Given the description of an element on the screen output the (x, y) to click on. 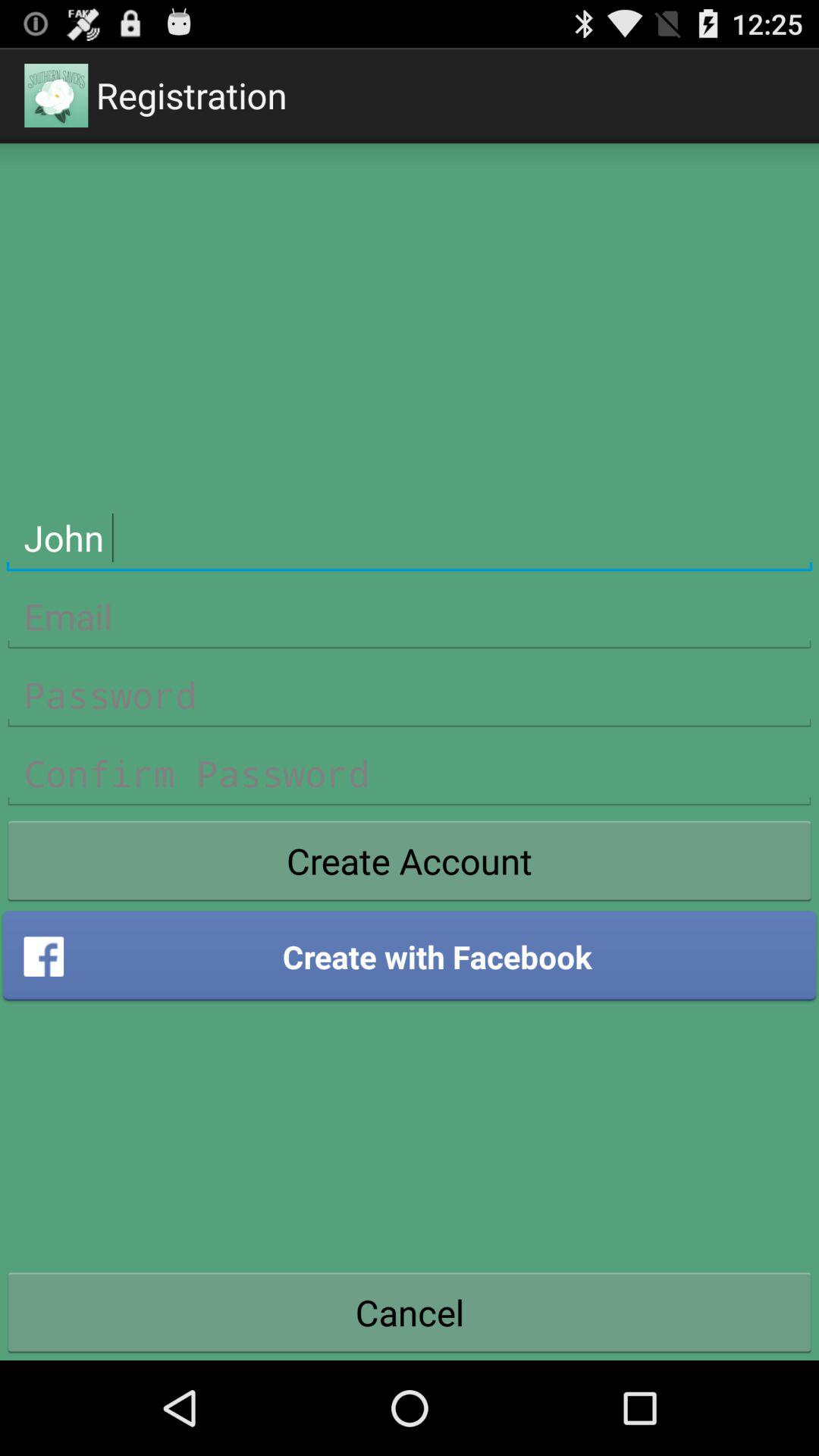
login email (409, 616)
